Given the description of an element on the screen output the (x, y) to click on. 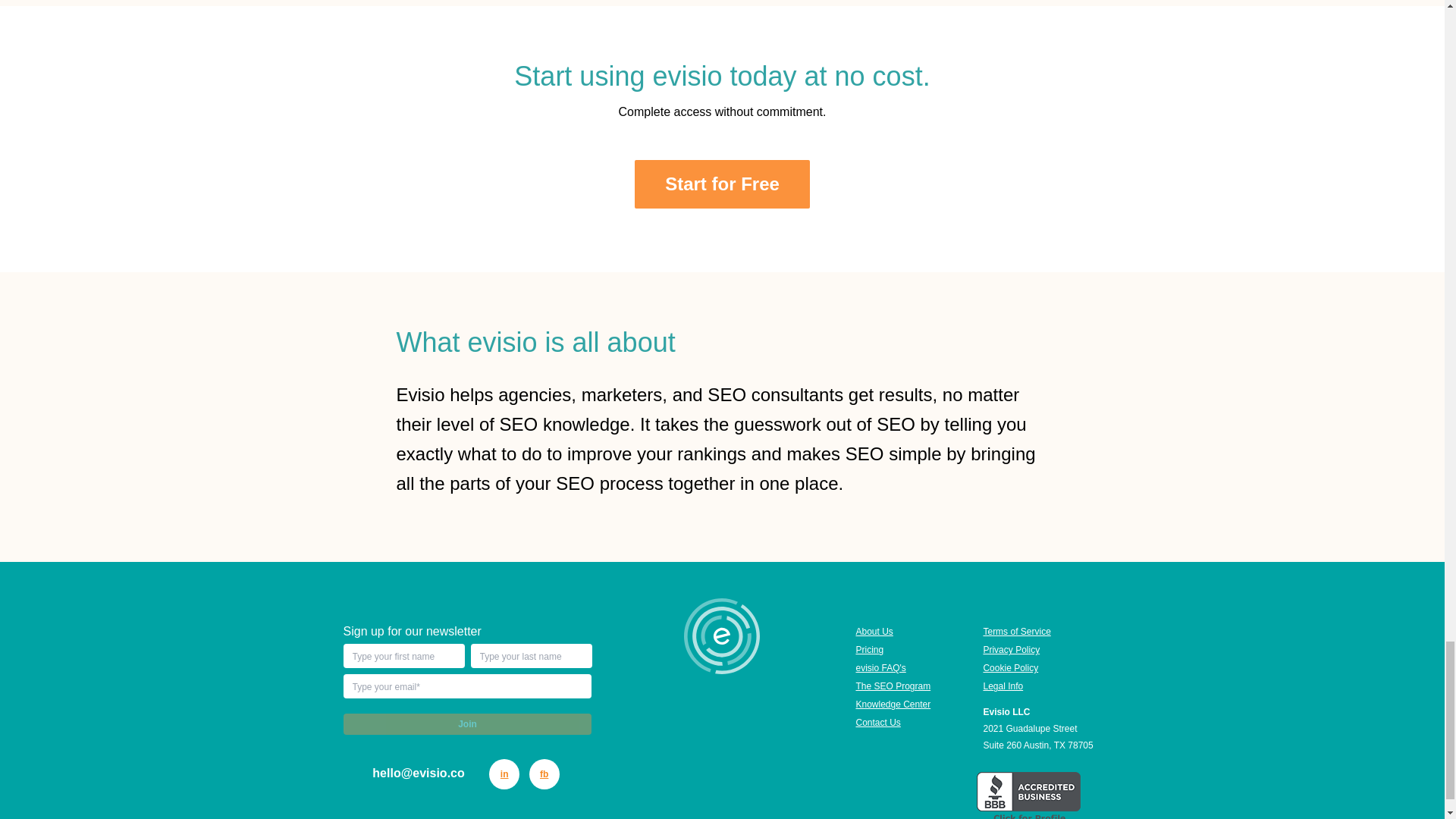
Start for Free (721, 183)
